Given the description of an element on the screen output the (x, y) to click on. 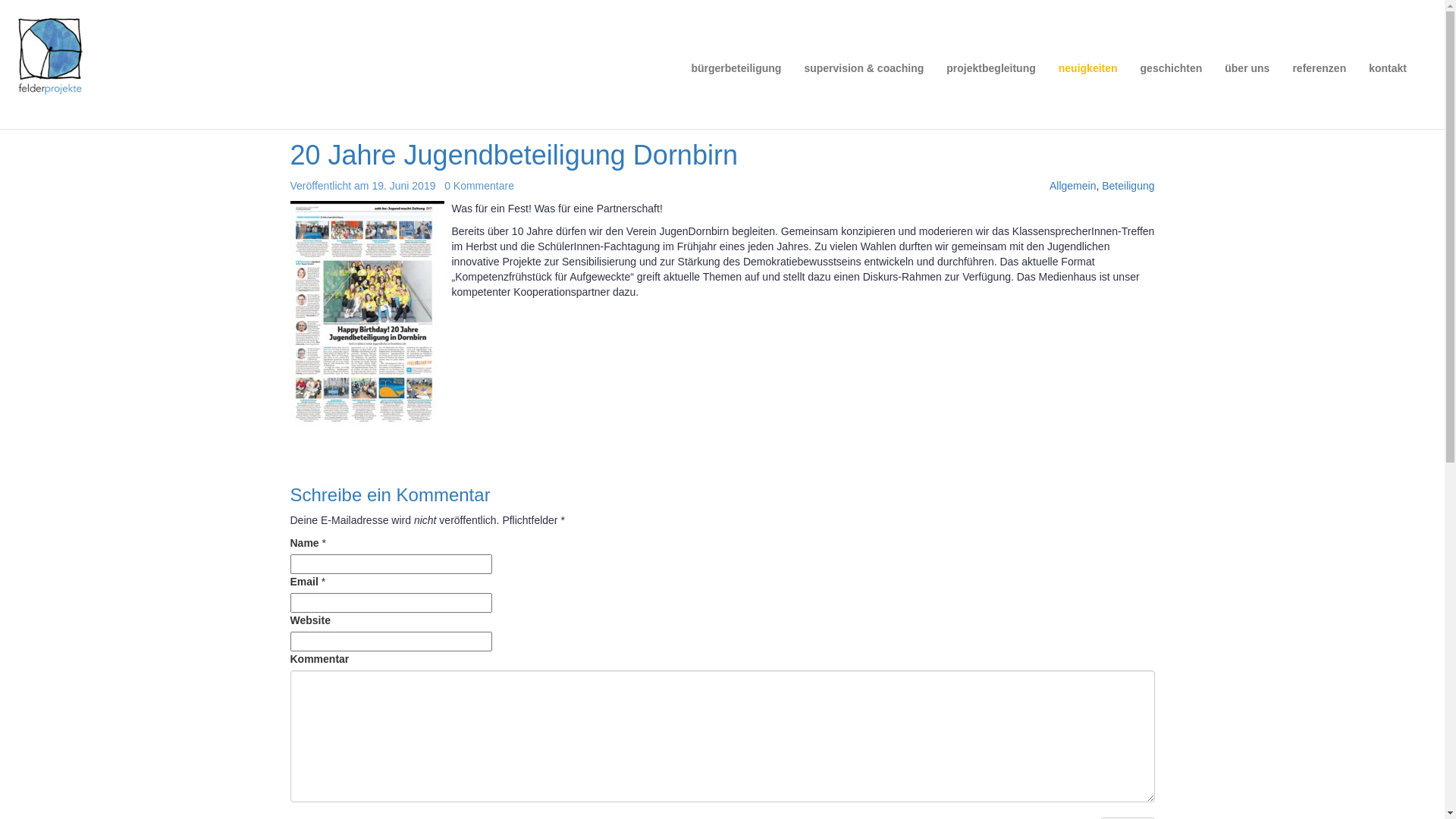
referenzen Element type: text (1318, 68)
supervision & coaching Element type: text (863, 68)
neuigkeiten Element type: text (1088, 68)
Beteiligung Element type: text (1127, 185)
kontakt Element type: text (1387, 68)
projektbegleitung Element type: text (990, 68)
geschichten Element type: text (1171, 68)
Allgemein Element type: text (1072, 185)
